Given the description of an element on the screen output the (x, y) to click on. 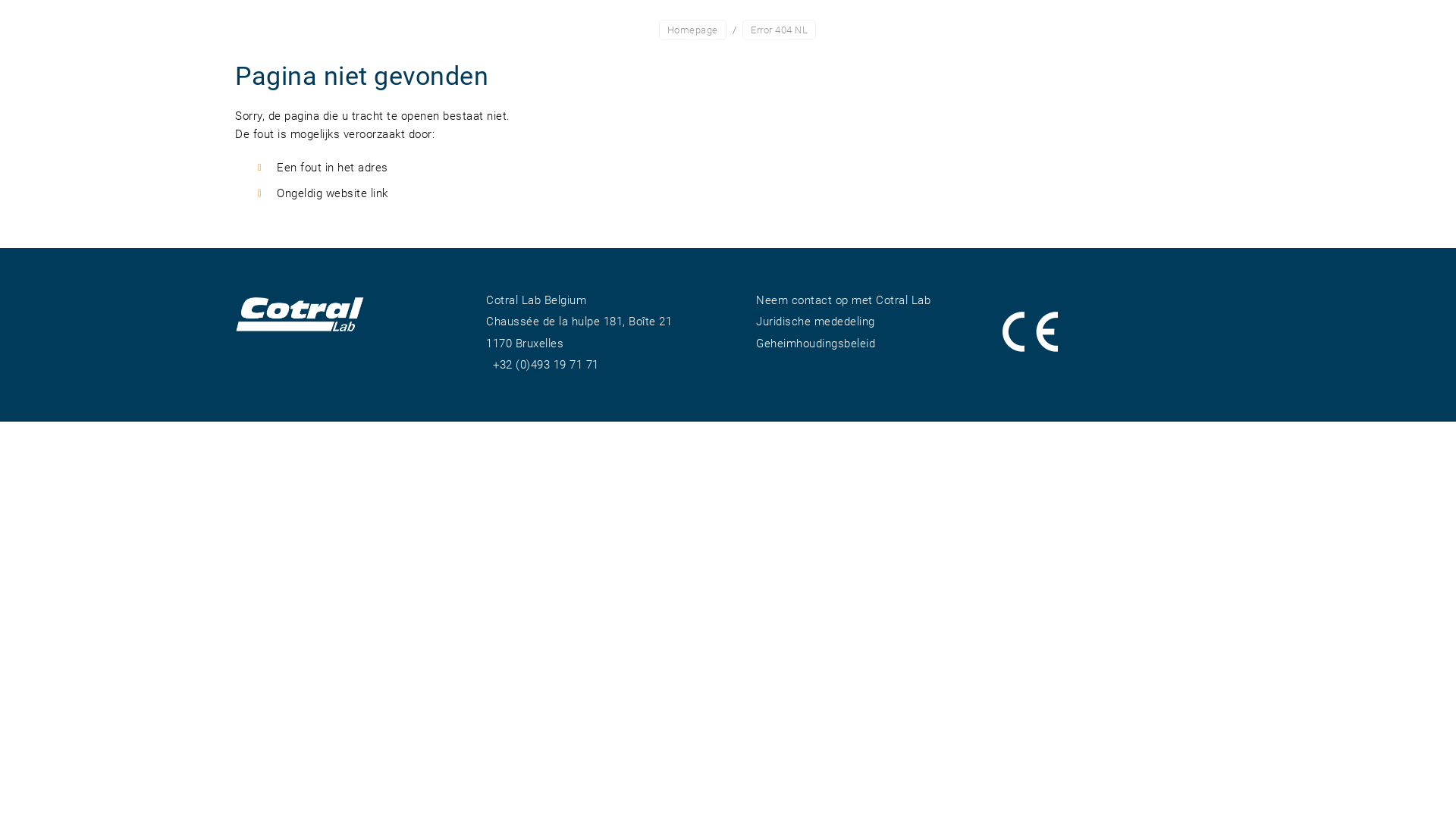
Geheimhoudingsbeleid Element type: text (815, 343)
Facebook Element type: hover (244, 362)
NL Element type: text (692, 38)
Contact Element type: text (1067, 38)
Neem contact op met Cotral Lab Element type: text (843, 300)
Juridische mededeling Element type: text (815, 321)
Youtube Element type: hover (271, 362)
Casestudy's Element type: text (987, 38)
Homepage Element type: text (692, 29)
Gehoorbescherming Element type: text (868, 38)
Cotral Lab Element type: text (762, 38)
+32 (0)493 19 71 71 Element type: text (545, 364)
